Given the description of an element on the screen output the (x, y) to click on. 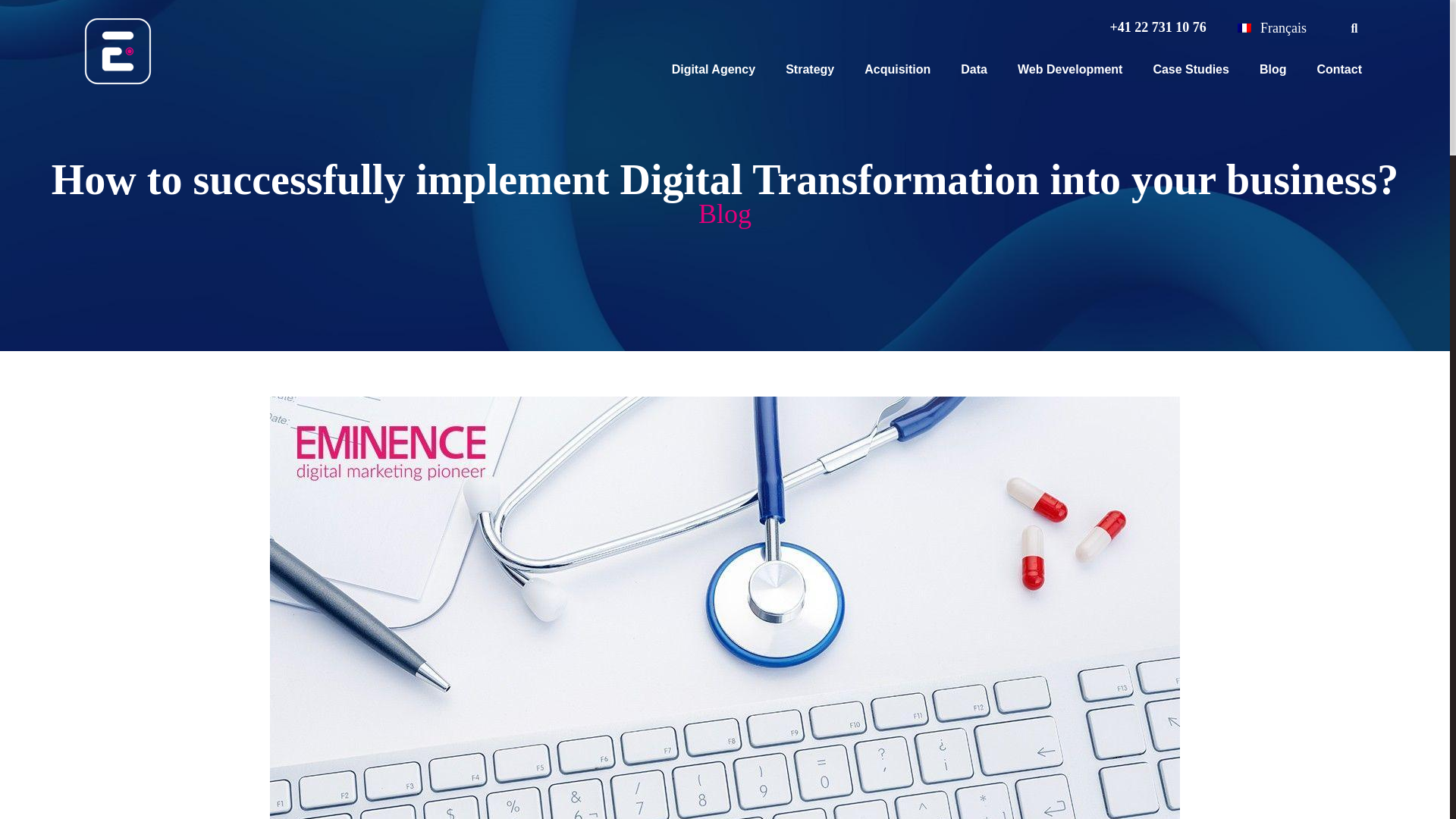
Strategy (810, 69)
Blog (1273, 69)
Web Development (1069, 69)
Digital Agency (713, 69)
Web Development (1069, 69)
Digital Agency (713, 69)
Acquisition (897, 69)
Data (973, 69)
Acquisition (897, 69)
Contact (1338, 69)
Eminence Data et Digital (118, 52)
Case Studies (1190, 69)
Data (973, 69)
Strategy (810, 69)
